Given the description of an element on the screen output the (x, y) to click on. 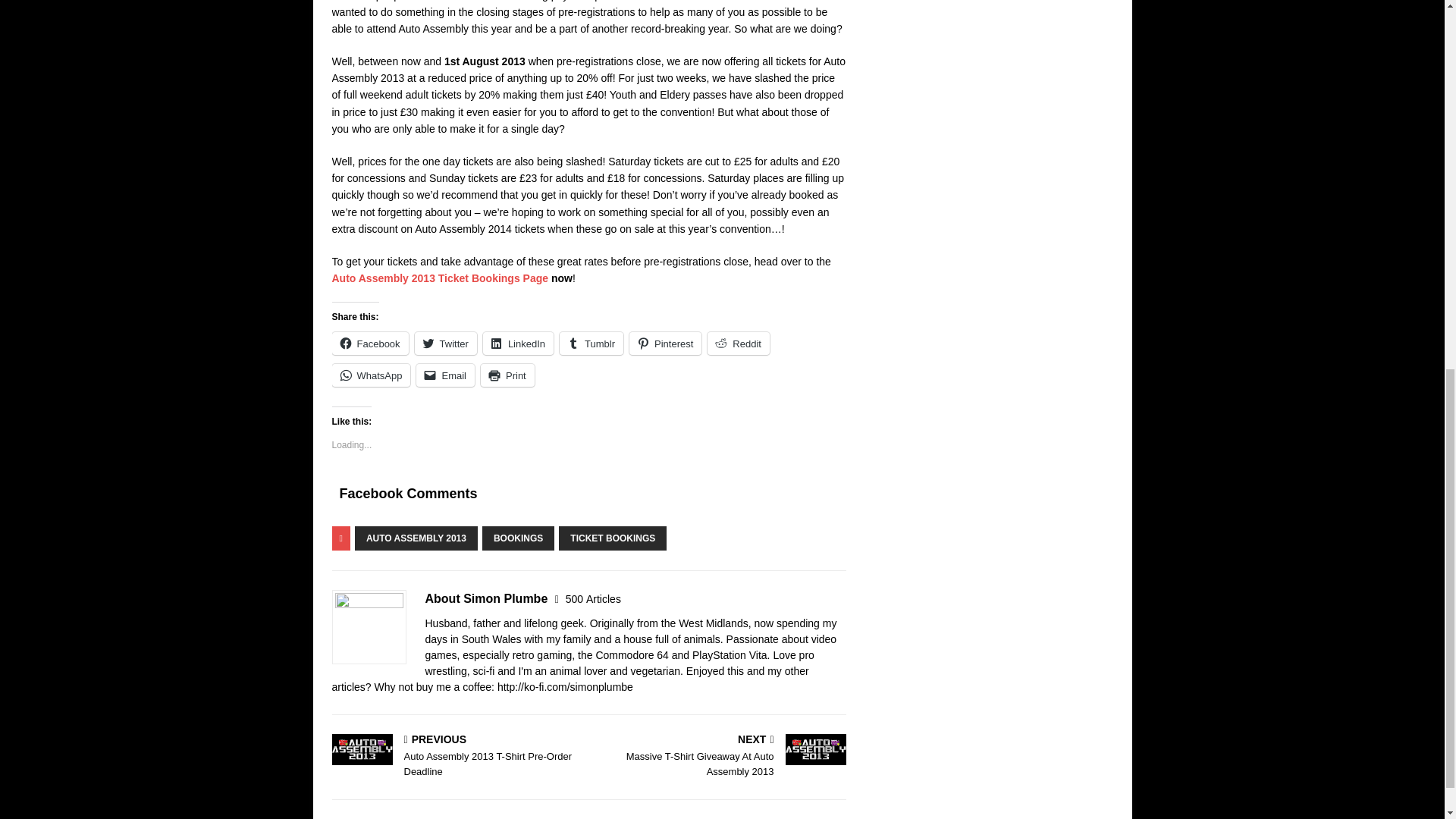
Tumblr (591, 343)
Print (507, 374)
Click to share on Twitter (445, 343)
LinkedIn (518, 343)
Click to print (507, 374)
AUTO ASSEMBLY 2013 (416, 538)
Facebook (370, 343)
Click to share on Facebook (370, 343)
Twitter (445, 343)
Pinterest (664, 343)
